Given the description of an element on the screen output the (x, y) to click on. 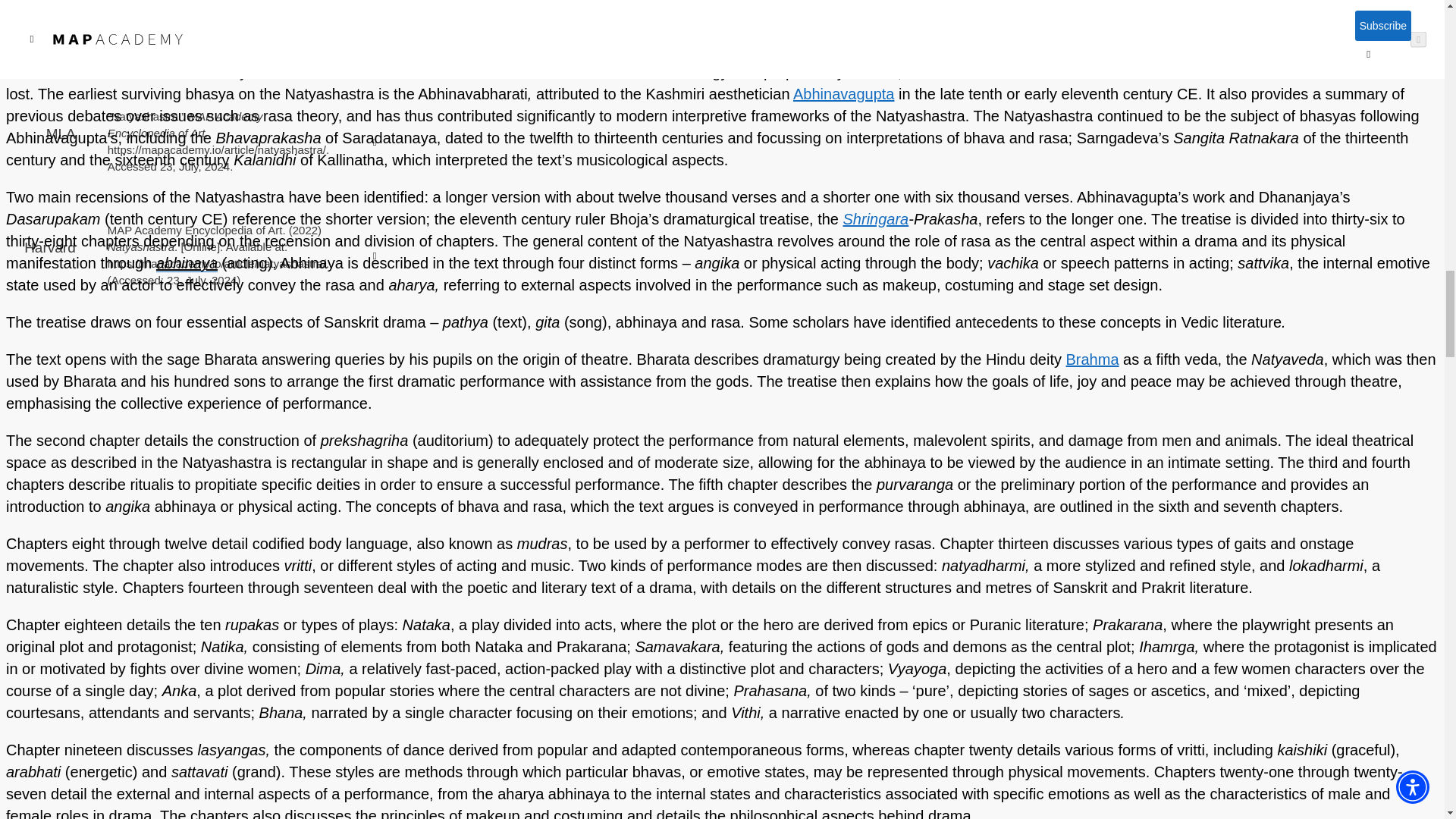
Abhinavagupta (843, 93)
sutra (731, 34)
Brahma (1092, 359)
Shringara (875, 218)
